Given the description of an element on the screen output the (x, y) to click on. 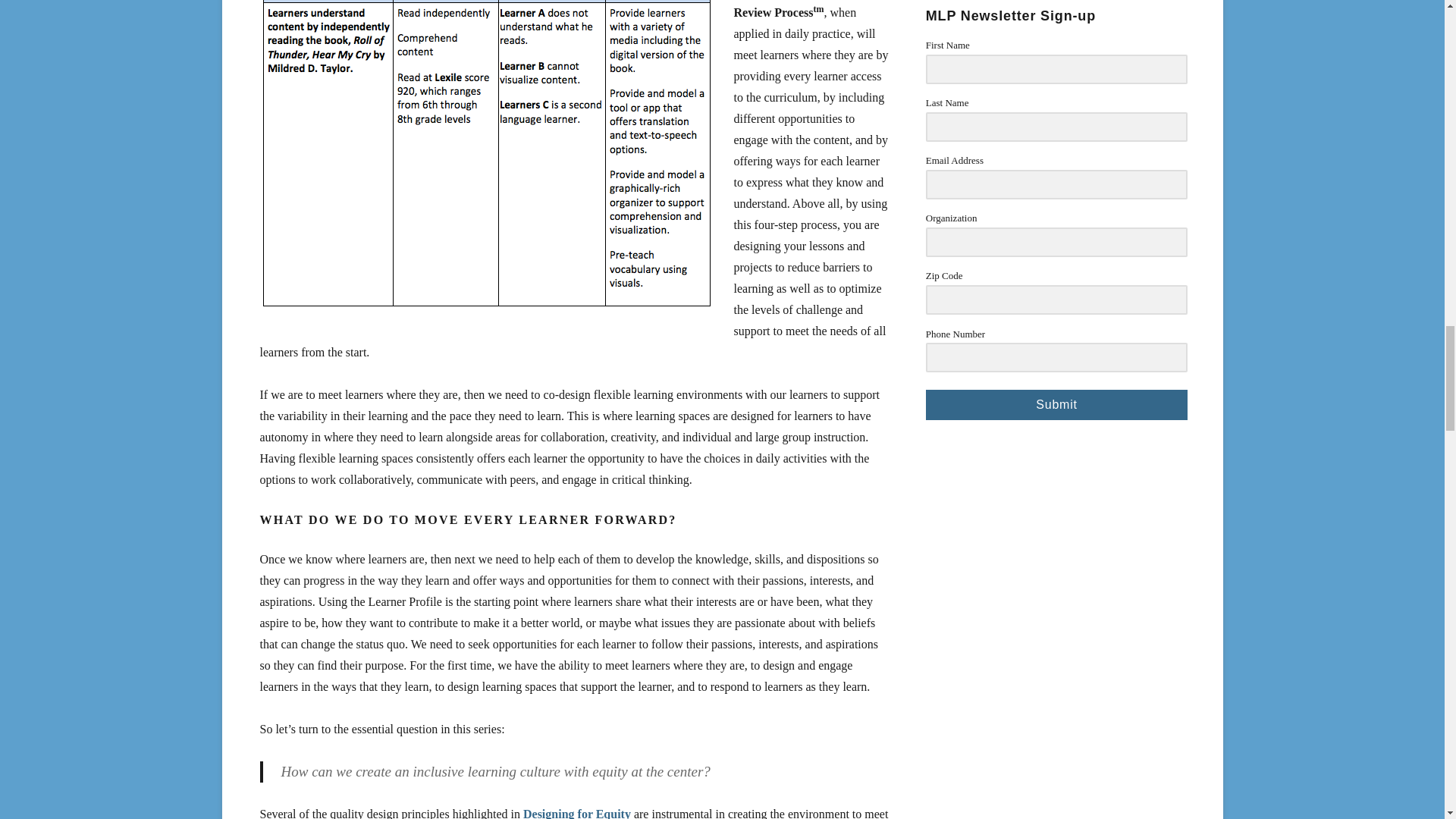
5 digit zip code, numbers only (1057, 299)
International Phone Number (1057, 357)
